Given the description of an element on the screen output the (x, y) to click on. 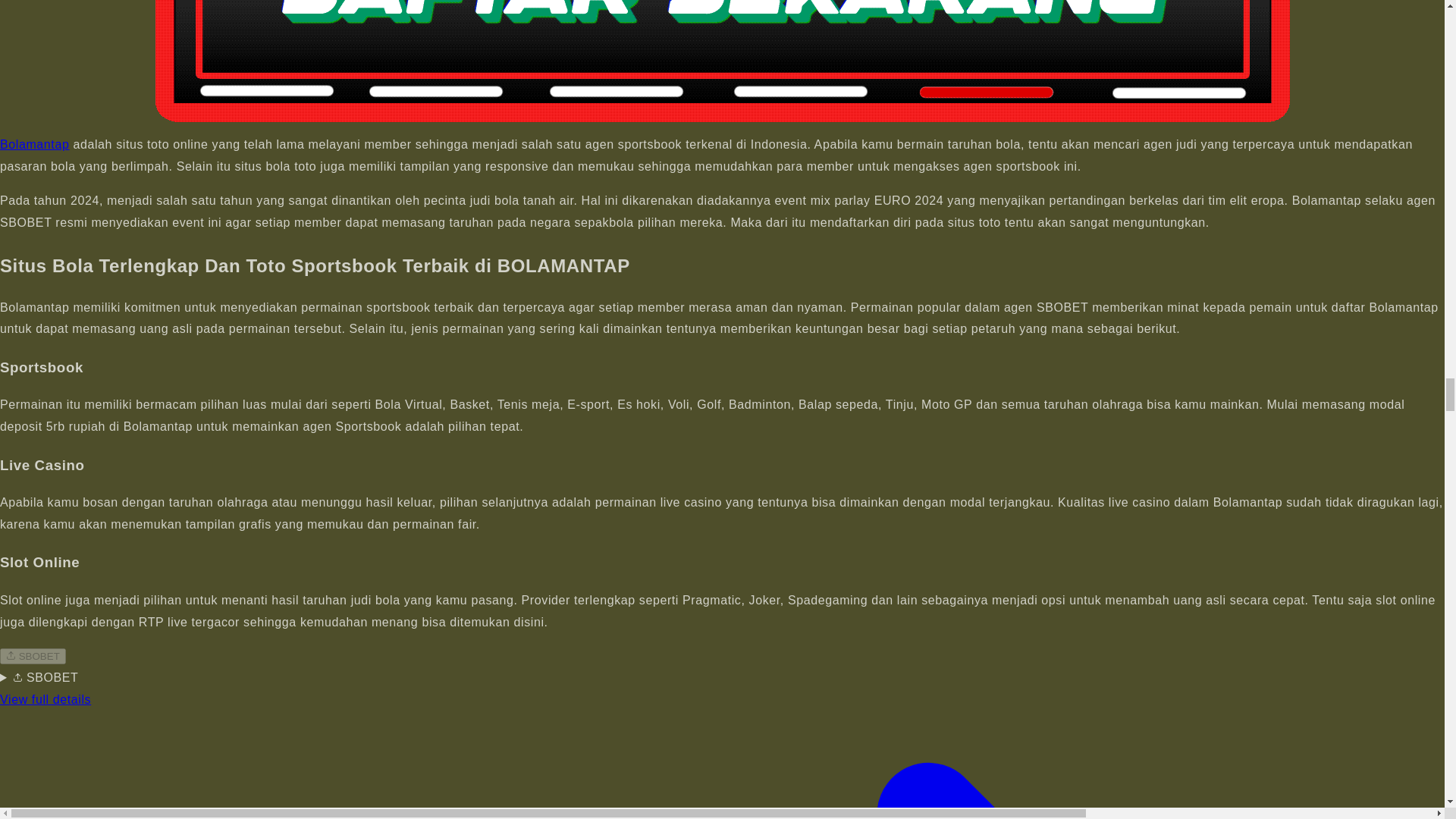
Bolamantap (34, 144)
SBOBET (32, 656)
